Given the description of an element on the screen output the (x, y) to click on. 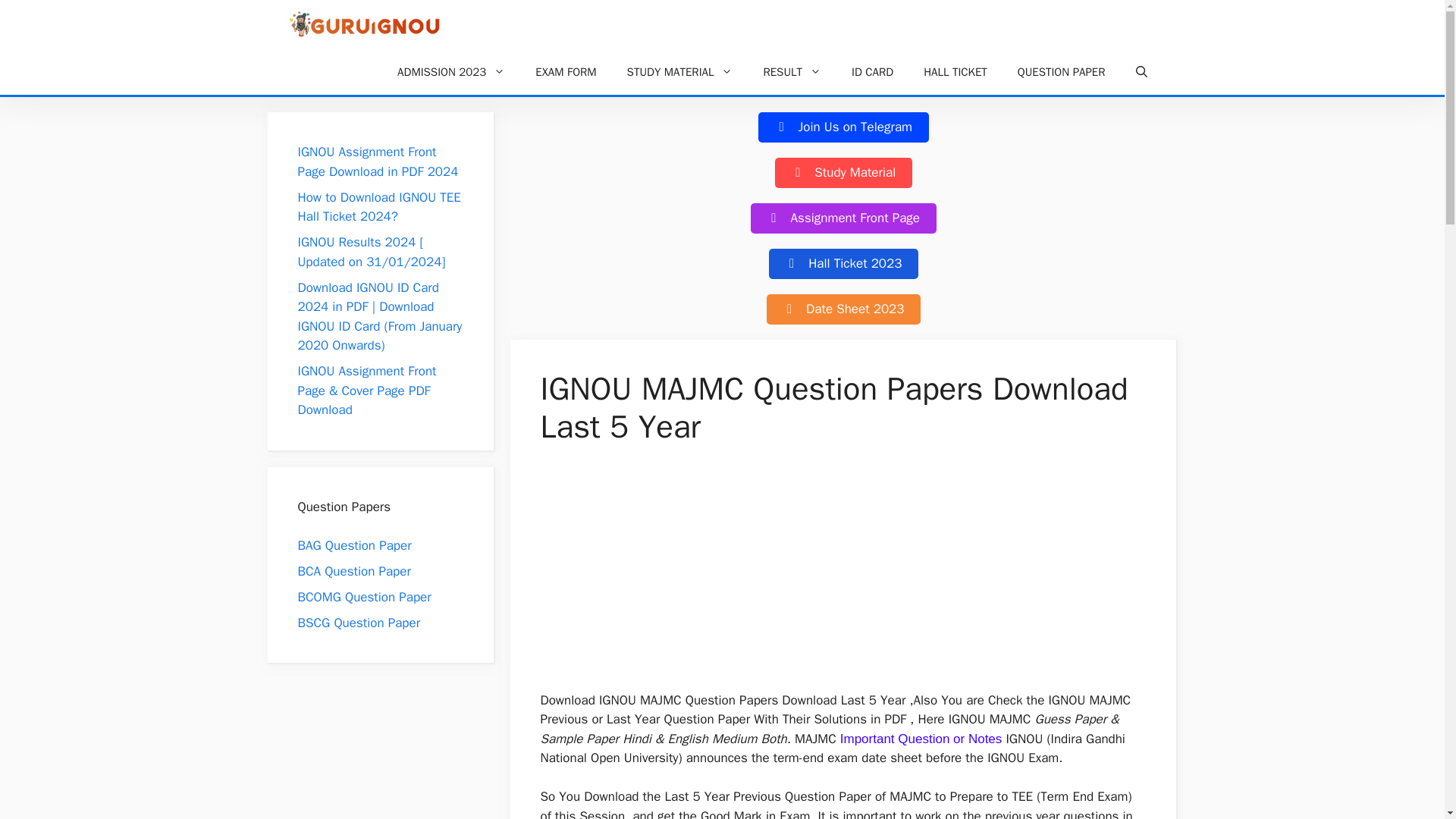
BAG Question Paper (353, 544)
Study Material (843, 173)
STUDY MATERIAL (679, 72)
HALL TICKET (955, 72)
Hall Ticket 2023 (843, 263)
RESULT (791, 72)
QUESTION PAPER (1062, 72)
ID CARD (871, 72)
Date Sheet 2023 (842, 309)
Assignment Front Page (843, 218)
BCOMG Question Paper (363, 596)
ADMISSION 2023 (450, 72)
Join Us on Telegram (843, 127)
EXAM FORM (565, 72)
